Given the description of an element on the screen output the (x, y) to click on. 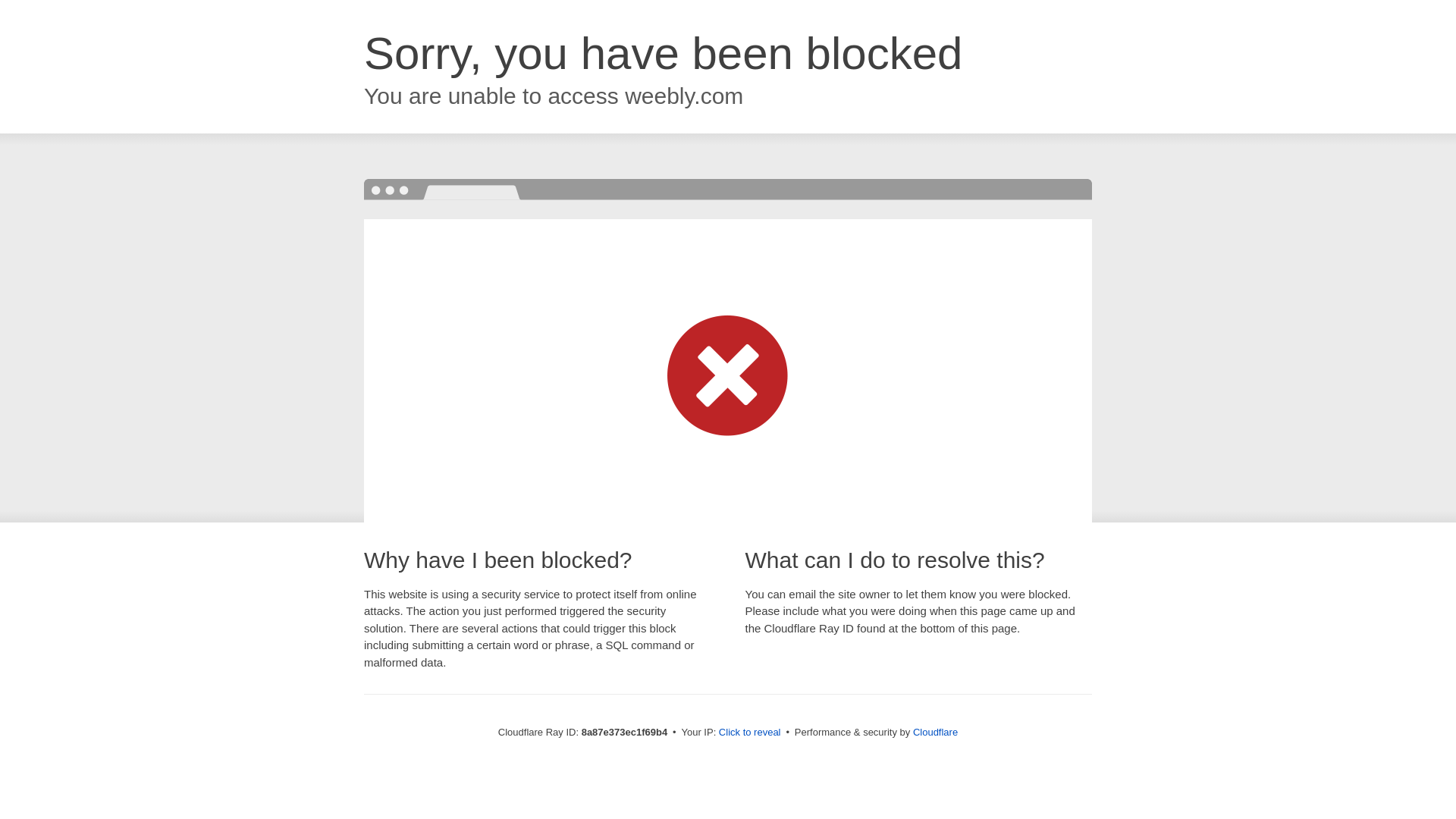
Cloudflare (935, 731)
Click to reveal (749, 732)
